Given the description of an element on the screen output the (x, y) to click on. 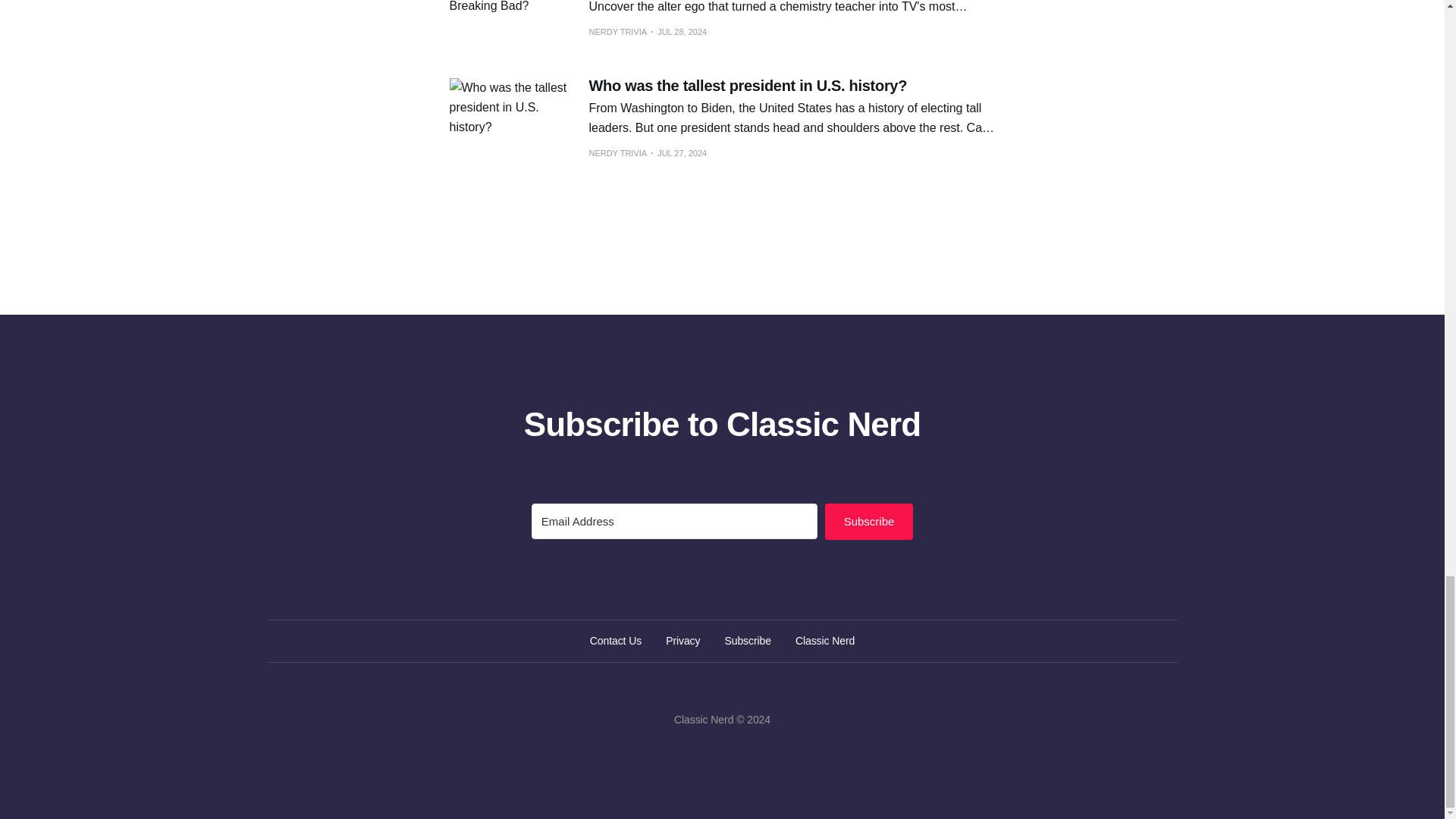
Subscribe (868, 521)
Contact Us (615, 640)
Classic Nerd (824, 640)
Subscribe (747, 640)
Privacy (682, 640)
